Given the description of an element on the screen output the (x, y) to click on. 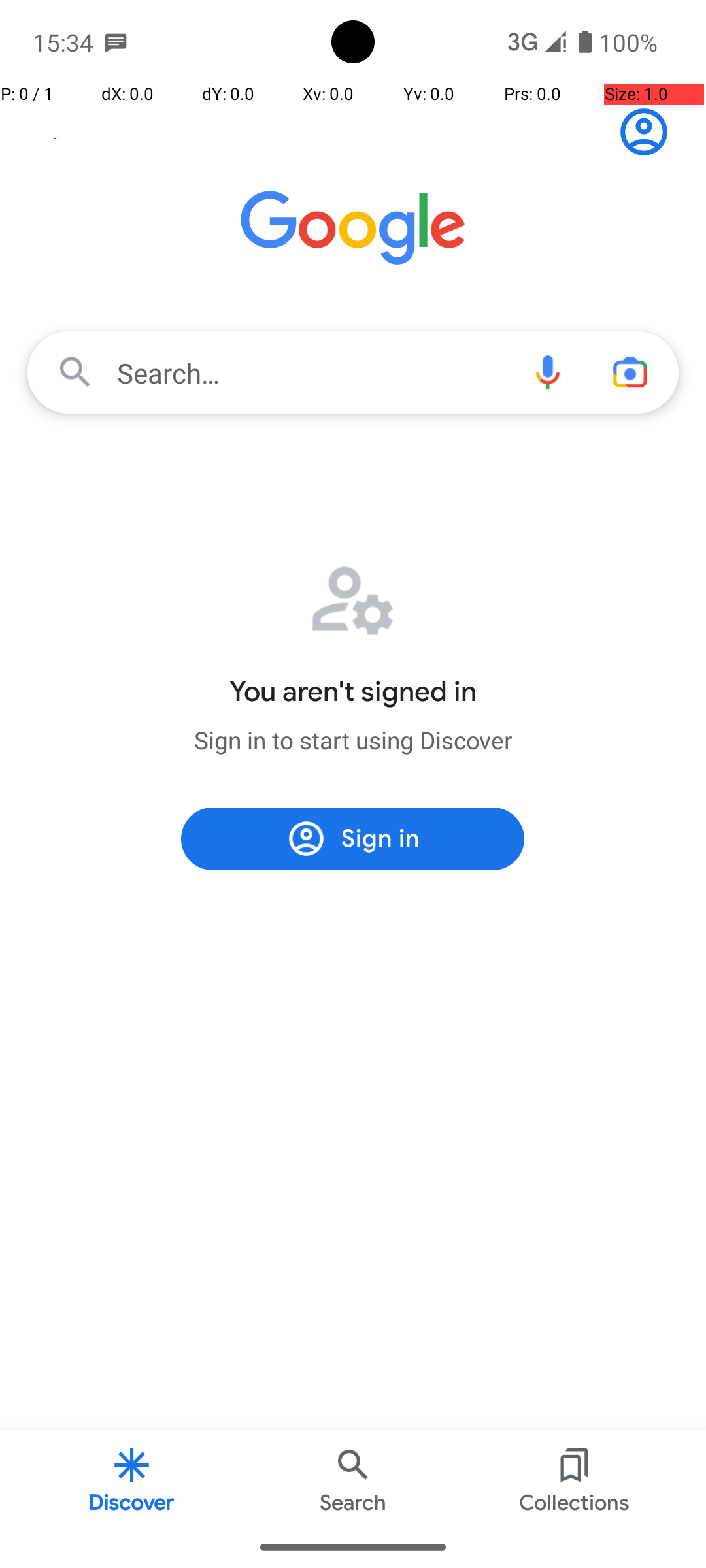
Sign in Element type: android.widget.FrameLayout (650, 131)
Camera search Element type: android.widget.ImageButton (629, 372)
Collections Button Element type: android.widget.FrameLayout (574, 1478)
You aren't signed in Element type: android.widget.TextView (352, 691)
Sign in to start using Discover Element type: android.widget.TextView (352, 739)
